Given the description of an element on the screen output the (x, y) to click on. 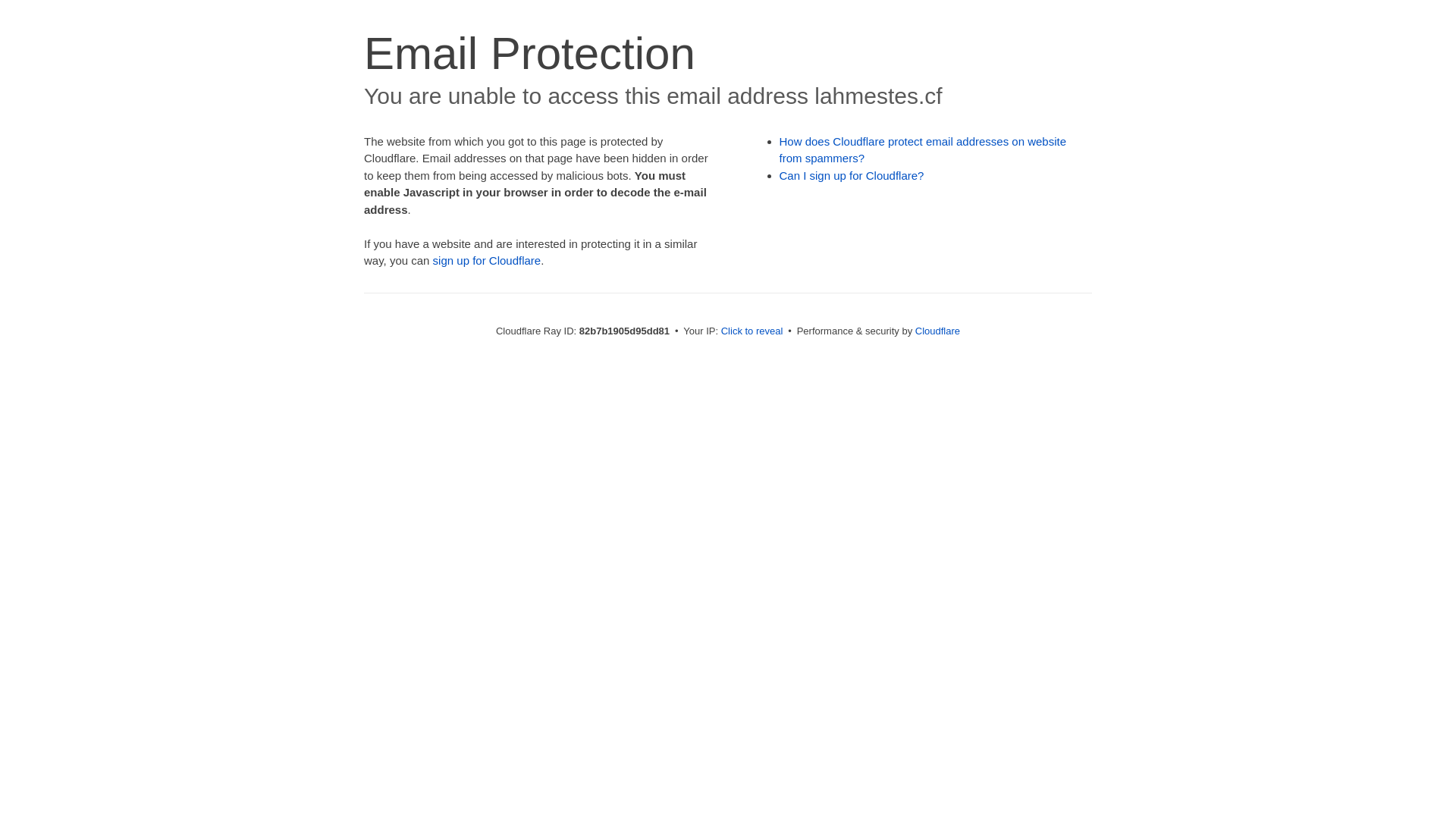
Click to reveal Element type: text (752, 330)
Cloudflare Element type: text (937, 330)
sign up for Cloudflare Element type: text (487, 260)
Can I sign up for Cloudflare? Element type: text (851, 175)
